Given the description of an element on the screen output the (x, y) to click on. 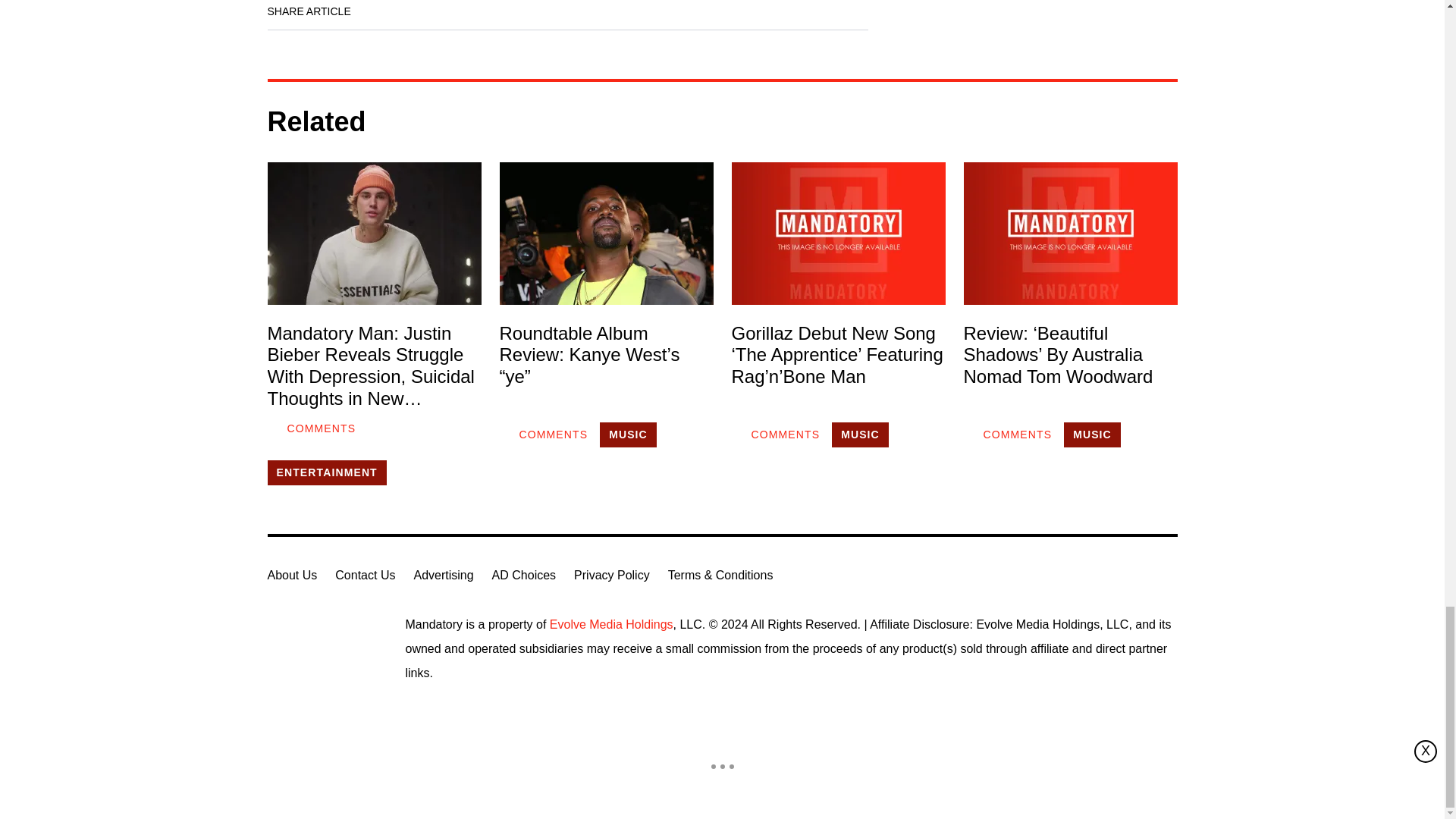
Facebook (377, 11)
Pinterest (505, 11)
Twitter (463, 11)
LinkedIn (420, 11)
